Given the description of an element on the screen output the (x, y) to click on. 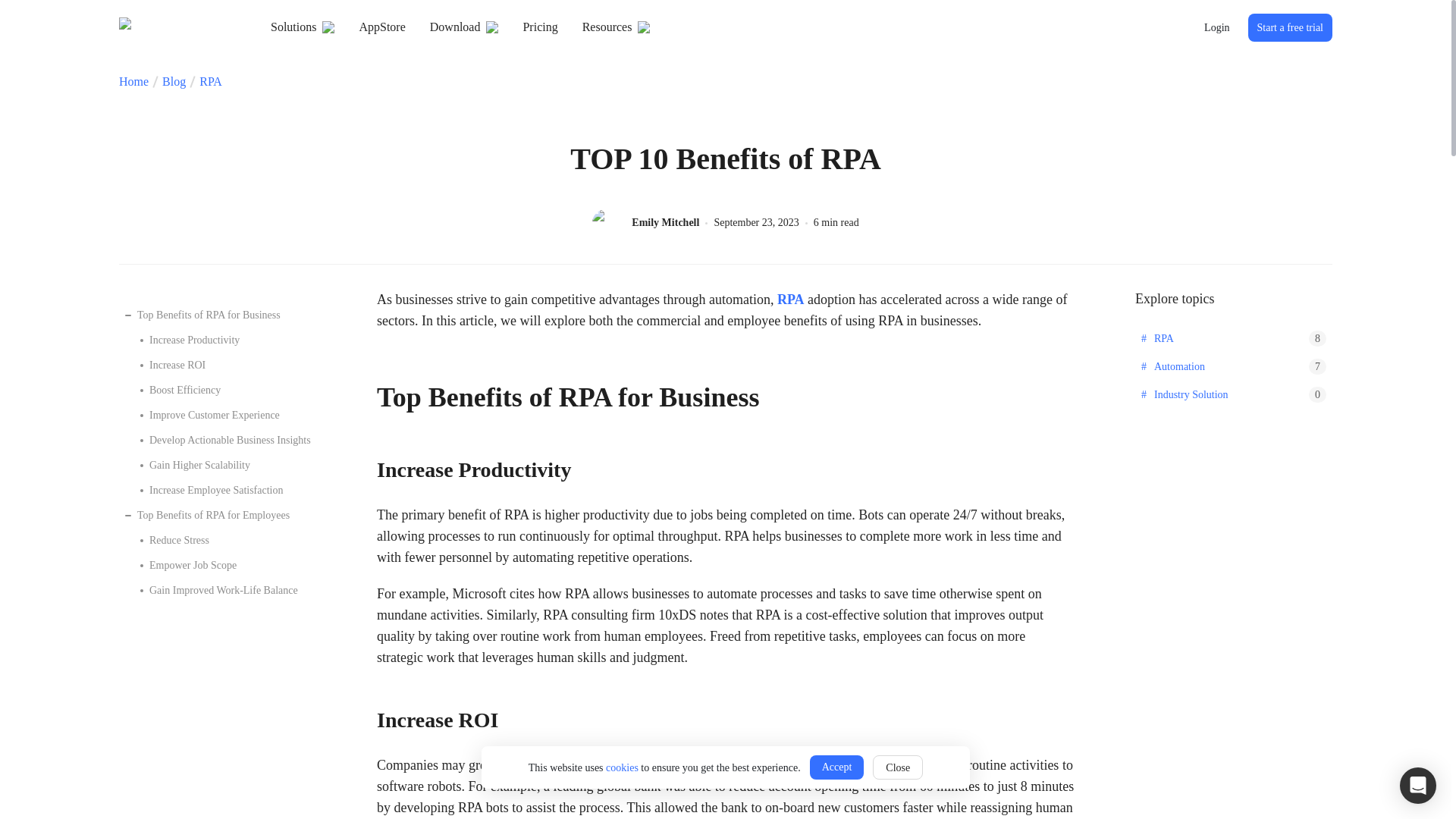
Develop Actionable Business Insights (224, 440)
Pricing (539, 27)
Reduce Stress (224, 540)
Top Benefits of RPA for Employees (217, 515)
Boost Efficiency (224, 390)
Increase ROI (224, 364)
RPA (791, 299)
Home (133, 81)
Gain Improved Work-Life Balance (224, 590)
Improve Customer Experience (224, 414)
